Given the description of an element on the screen output the (x, y) to click on. 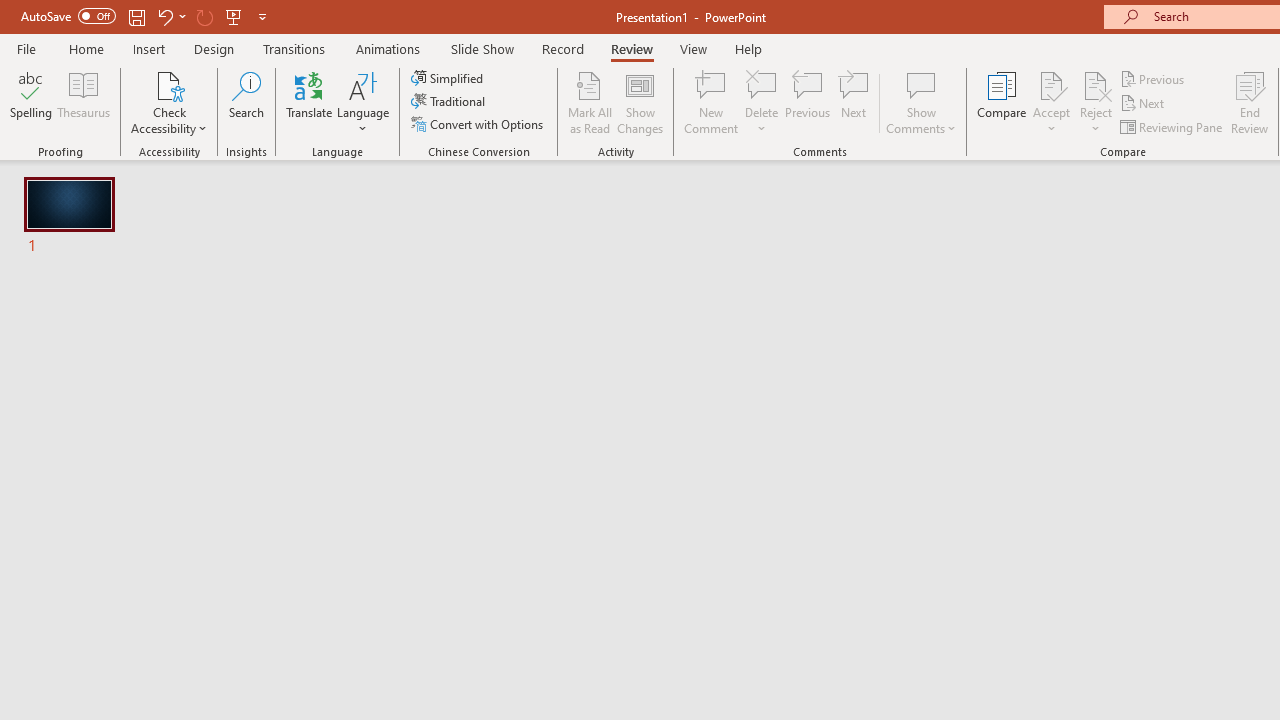
Show Changes (639, 102)
Accept Change (1051, 84)
Spelling... (31, 102)
Compare (1002, 102)
Translate (309, 102)
Previous (1153, 78)
